Given the description of an element on the screen output the (x, y) to click on. 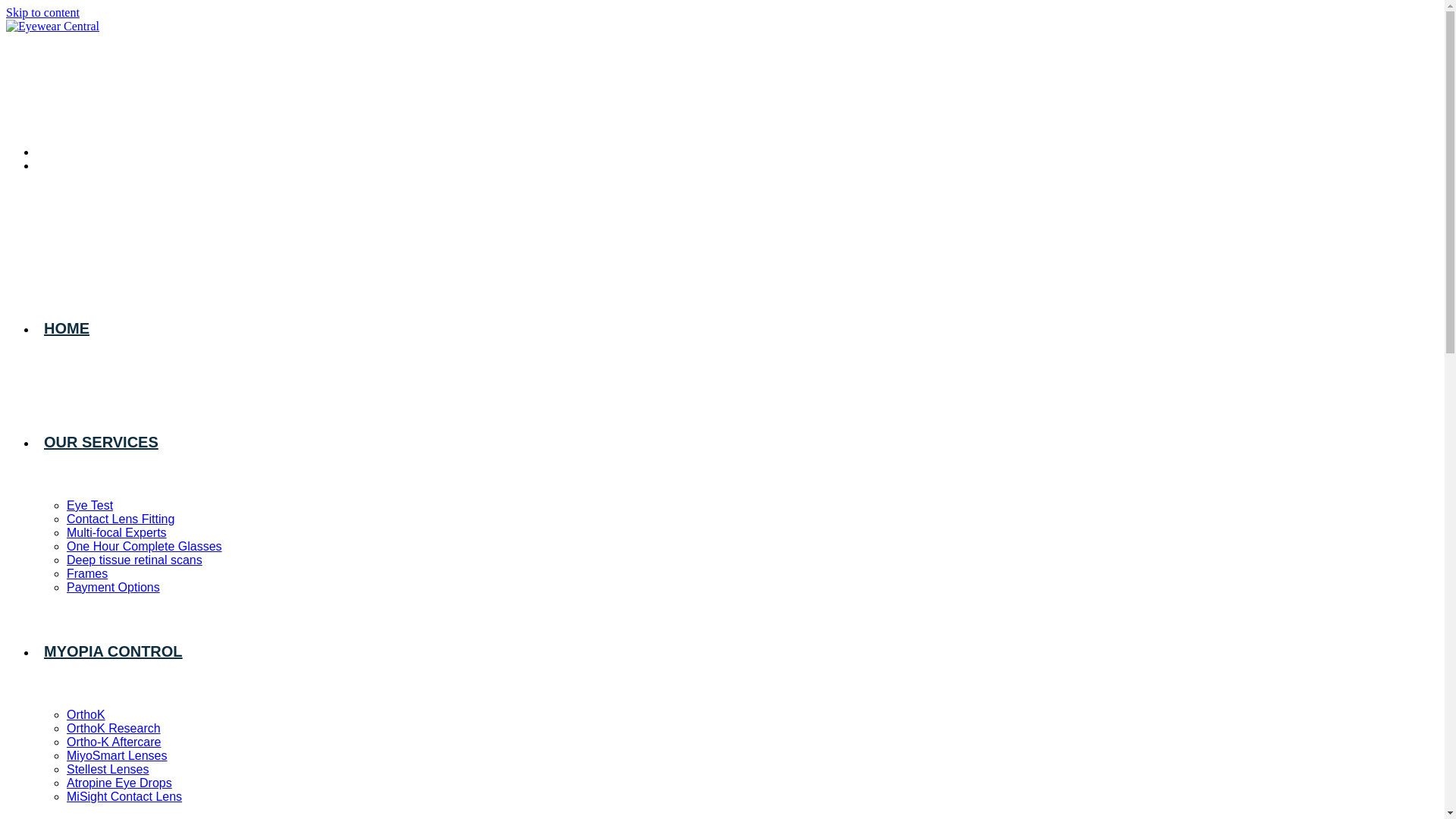
MiSight Contact Lens Element type: text (124, 796)
Deep tissue retinal scans Element type: text (134, 559)
MYOPIA CONTROL Element type: text (113, 651)
Eye Test Element type: text (89, 504)
Atropine Eye Drops Element type: text (119, 782)
Multi-focal Experts Element type: text (116, 532)
One Hour Complete Glasses Element type: text (144, 545)
Payment Options Element type: text (113, 586)
OrthoK Element type: text (85, 714)
HOME Element type: text (66, 328)
Ortho-K Aftercare Element type: text (113, 741)
OrthoK Research Element type: text (113, 727)
Frames Element type: text (86, 573)
Stellest Lenses Element type: text (107, 768)
MiyoSmart Lenses Element type: text (116, 755)
Skip to content Element type: text (42, 12)
Contact Lens Fitting Element type: text (120, 518)
OUR SERVICES Element type: text (101, 441)
